Given the description of an element on the screen output the (x, y) to click on. 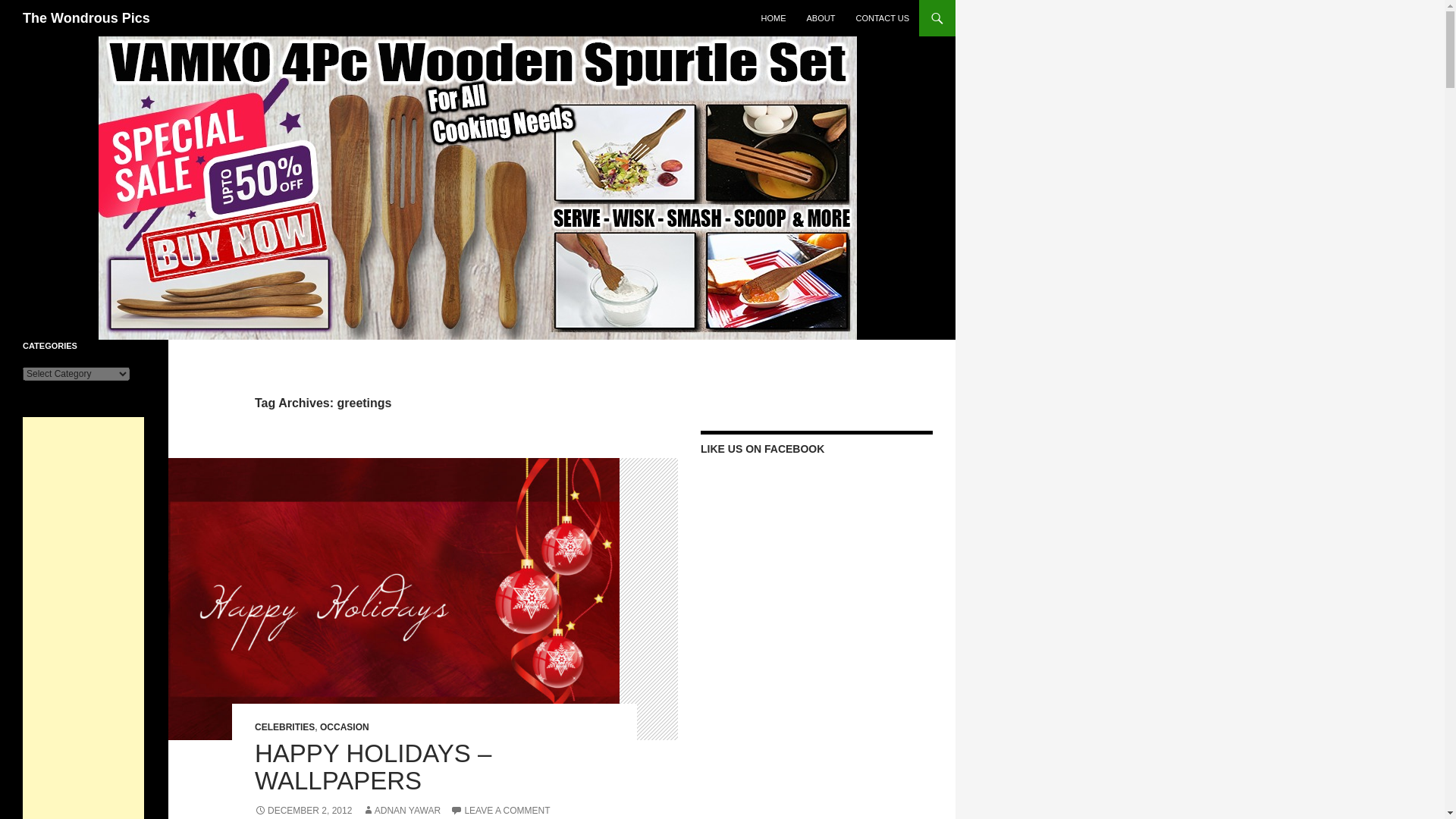
ADNAN YAWAR (401, 810)
ABOUT (820, 18)
LEAVE A COMMENT (499, 810)
OCCASION (344, 726)
DECEMBER 2, 2012 (303, 810)
CELEBRITIES (284, 726)
CONTACT US (881, 18)
The Wondrous Pics (86, 18)
